Given the description of an element on the screen output the (x, y) to click on. 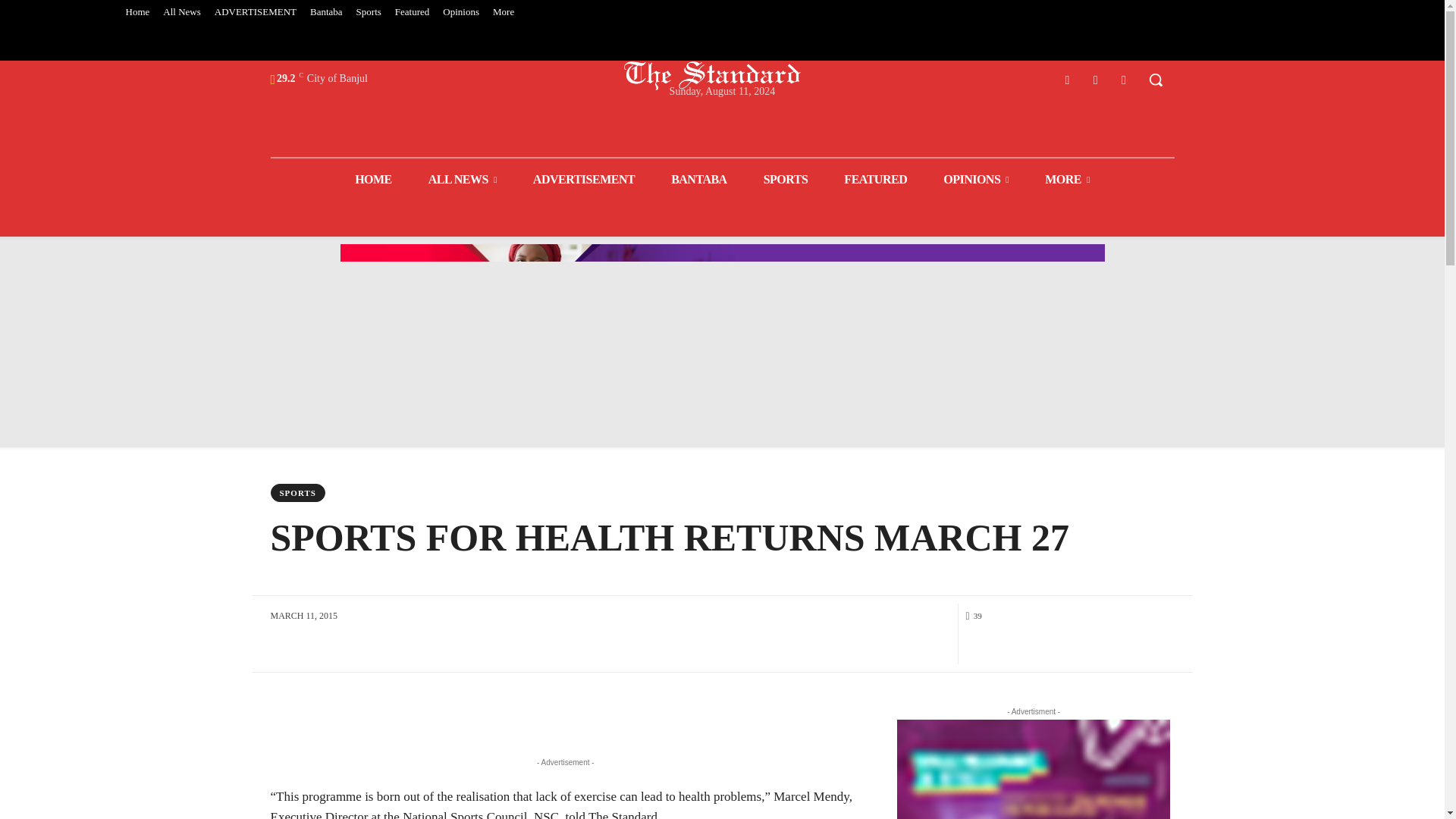
Youtube (1123, 79)
Sports (368, 12)
All News (180, 12)
Facebook (1067, 79)
Home (136, 12)
Opinions (460, 12)
Bantaba (325, 12)
Featured (411, 12)
ADVERTISEMENT (255, 12)
HOME (373, 178)
